Given the description of an element on the screen output the (x, y) to click on. 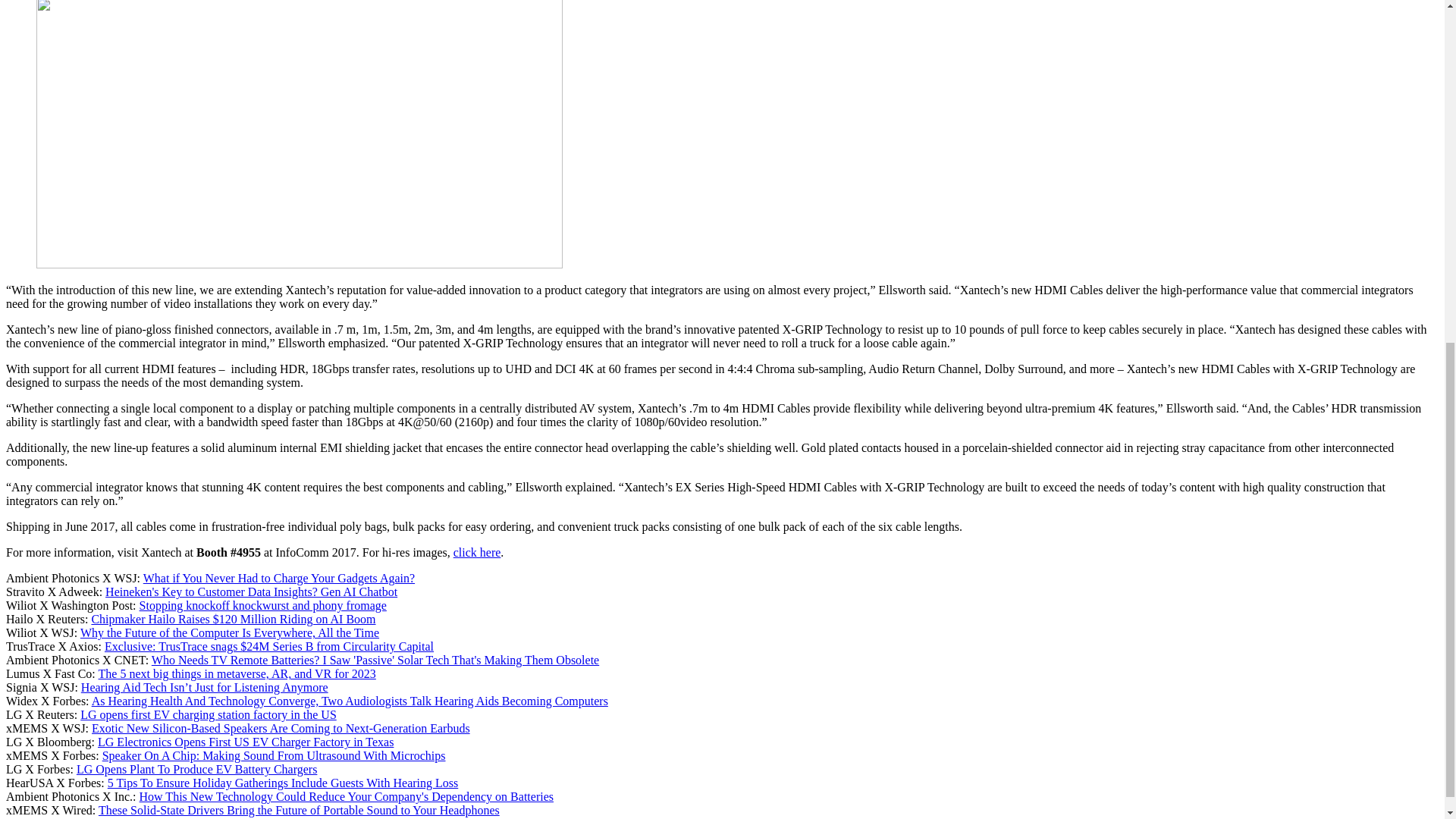
click here (476, 552)
Why the Future of the Computer Is Everywhere, All the Time (229, 632)
LG opens first EV charging station factory in the US (208, 714)
What if You Never Had to Charge Your Gadgets Again? (278, 577)
Stopping knockoff knockwurst and phony fromage (263, 604)
Heineken's Key to Customer Data Insights? Gen AI Chatbot (250, 591)
LG Electronics Opens First US EV Charger Factory in Texas (245, 741)
The 5 next big things in metaverse, AR, and VR for 2023 (237, 673)
LG Opens Plant To Produce EV Battery Chargers (197, 768)
